Given the description of an element on the screen output the (x, y) to click on. 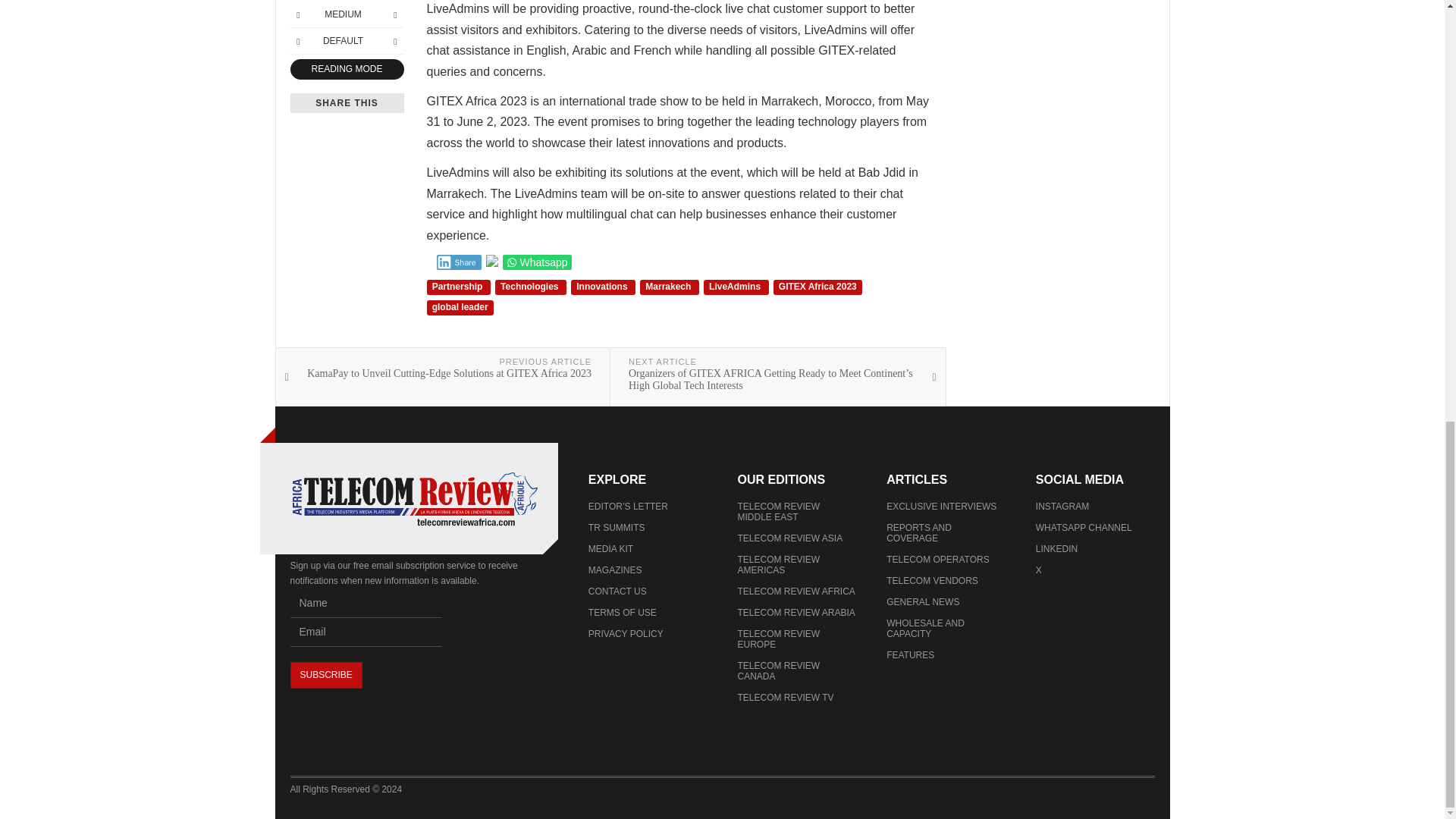
Next Font Style (395, 40)
Telecom Review (413, 498)
Previous Font Style (297, 40)
Smaller Font (297, 13)
Subscribe (325, 674)
Bigger Font (395, 13)
Reading Mode (346, 68)
